Given the description of an element on the screen output the (x, y) to click on. 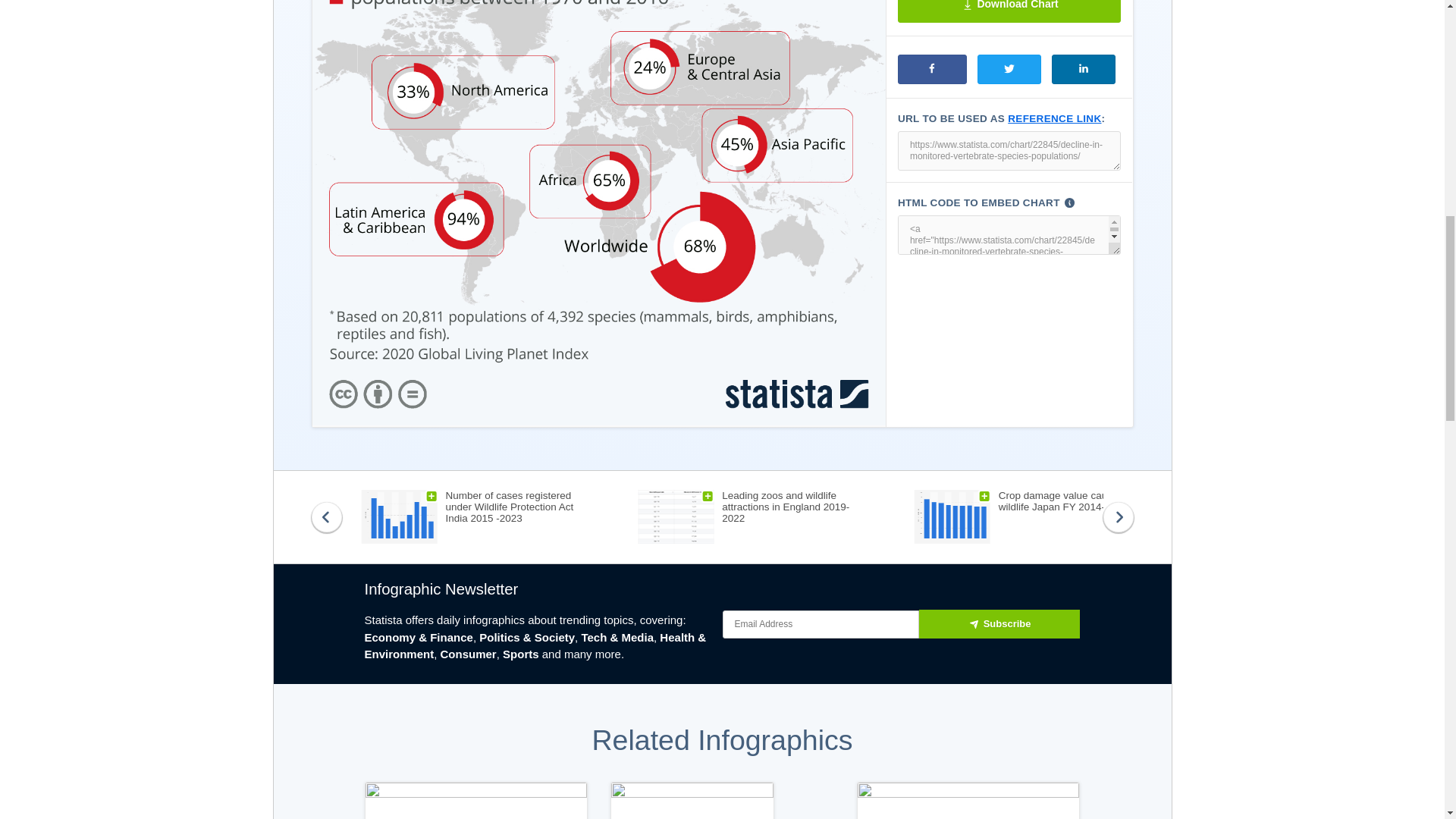
Share on Facebook (932, 69)
Majority Would Back a Ban on Single-Use Plastics (476, 800)
Download Chart (1009, 11)
Share on Twitter (1008, 69)
Share on LinkedIn (1083, 69)
100 Years of INTERPOL (692, 800)
